Given the description of an element on the screen output the (x, y) to click on. 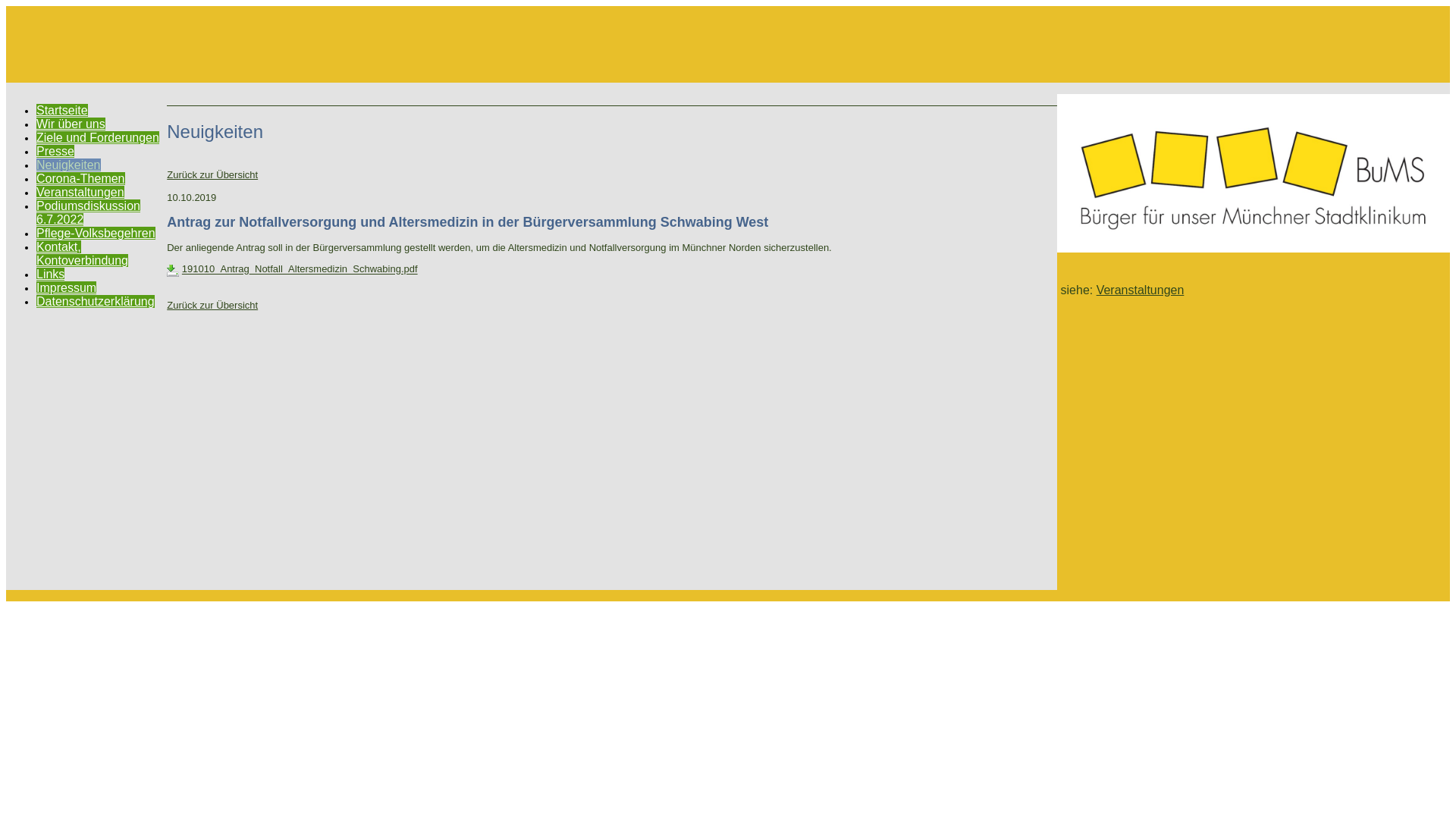
Startseite Element type: text (61, 109)
Podiumsdiskussion 6.7.2022 Element type: text (88, 212)
Corona-Themen Element type: text (80, 178)
Impressum Element type: text (66, 287)
Ziele und Forderungen Element type: text (97, 137)
Kontakt, Kontoverbindung Element type: text (82, 253)
Veranstaltungen Element type: text (1140, 289)
Links Element type: text (50, 273)
Presse Element type: text (55, 150)
Download Element type: hover (172, 270)
Veranstaltungen Element type: text (80, 191)
191010_Antrag_Notfall_Altersmedizin_Schwabing.pdf Element type: text (299, 269)
Neuigkeiten Element type: text (68, 164)
Pflege-Volksbegehren Element type: text (95, 232)
